Given the description of an element on the screen output the (x, y) to click on. 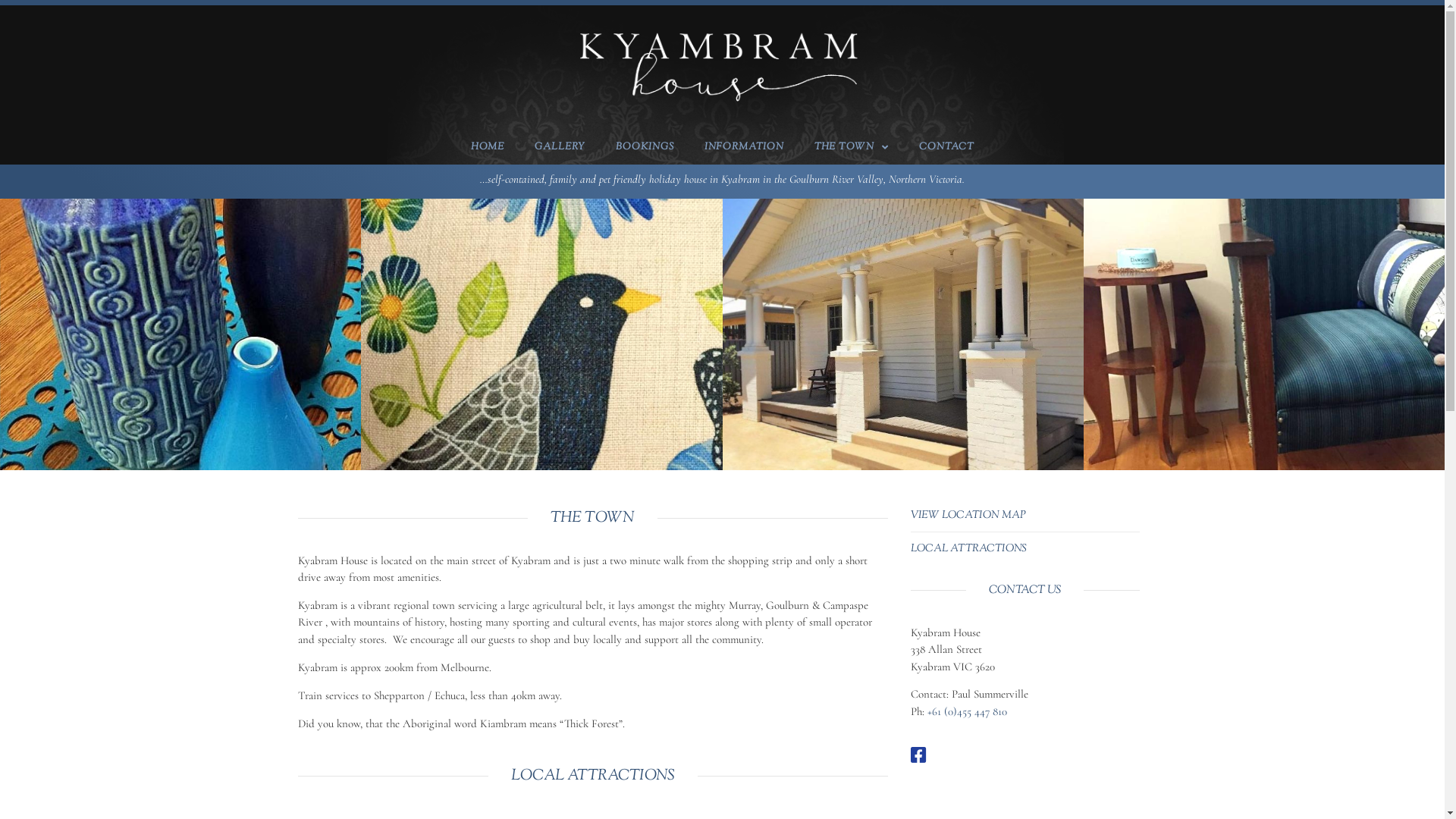
VIEW LOCATION MAP Element type: text (967, 516)
BOOKINGS Element type: text (644, 146)
LOCAL ATTRACTIONS Element type: text (968, 549)
GALLERY Element type: text (558, 146)
+61 (0)455 447 810 Element type: text (966, 711)
THE TOWN Element type: text (851, 146)
HOME Element type: text (486, 146)
CONTACT Element type: text (946, 146)
INFORMATION Element type: text (743, 146)
